Given the description of an element on the screen output the (x, y) to click on. 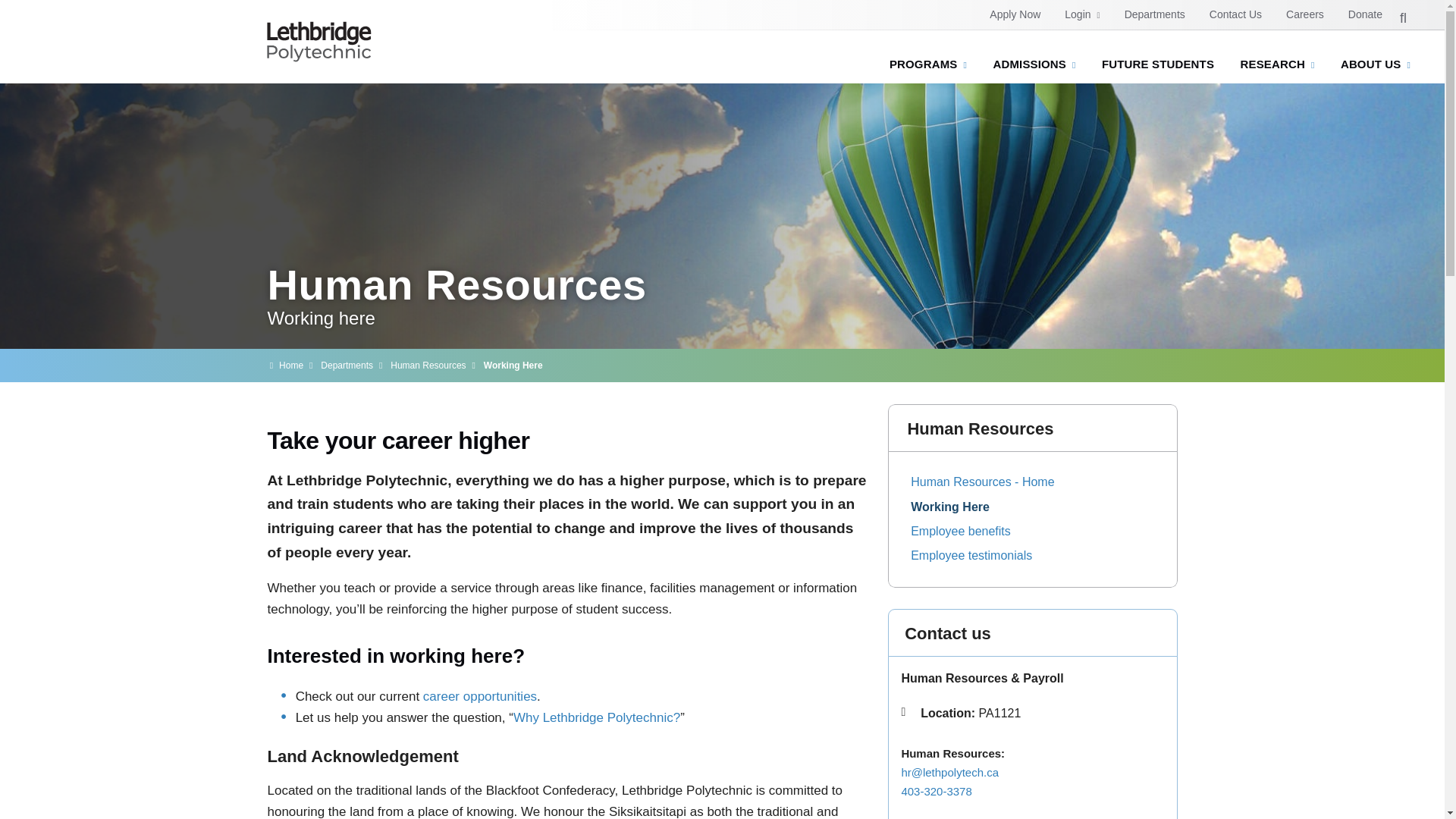
PROGRAMS (927, 68)
Apply Now (1014, 14)
Contact Us (1235, 14)
Contact us (1235, 14)
FUTURE STUDENTS (1157, 68)
Departments A-Z Index (1154, 14)
Admissions (1033, 68)
ADMISSIONS (1033, 68)
Login (1082, 14)
RESEARCH (1277, 68)
Departments (1154, 14)
How to apply to Lethbridge College. (1014, 14)
Close (585, 104)
Programs and Courses (927, 68)
Donate (1365, 14)
